Given the description of an element on the screen output the (x, y) to click on. 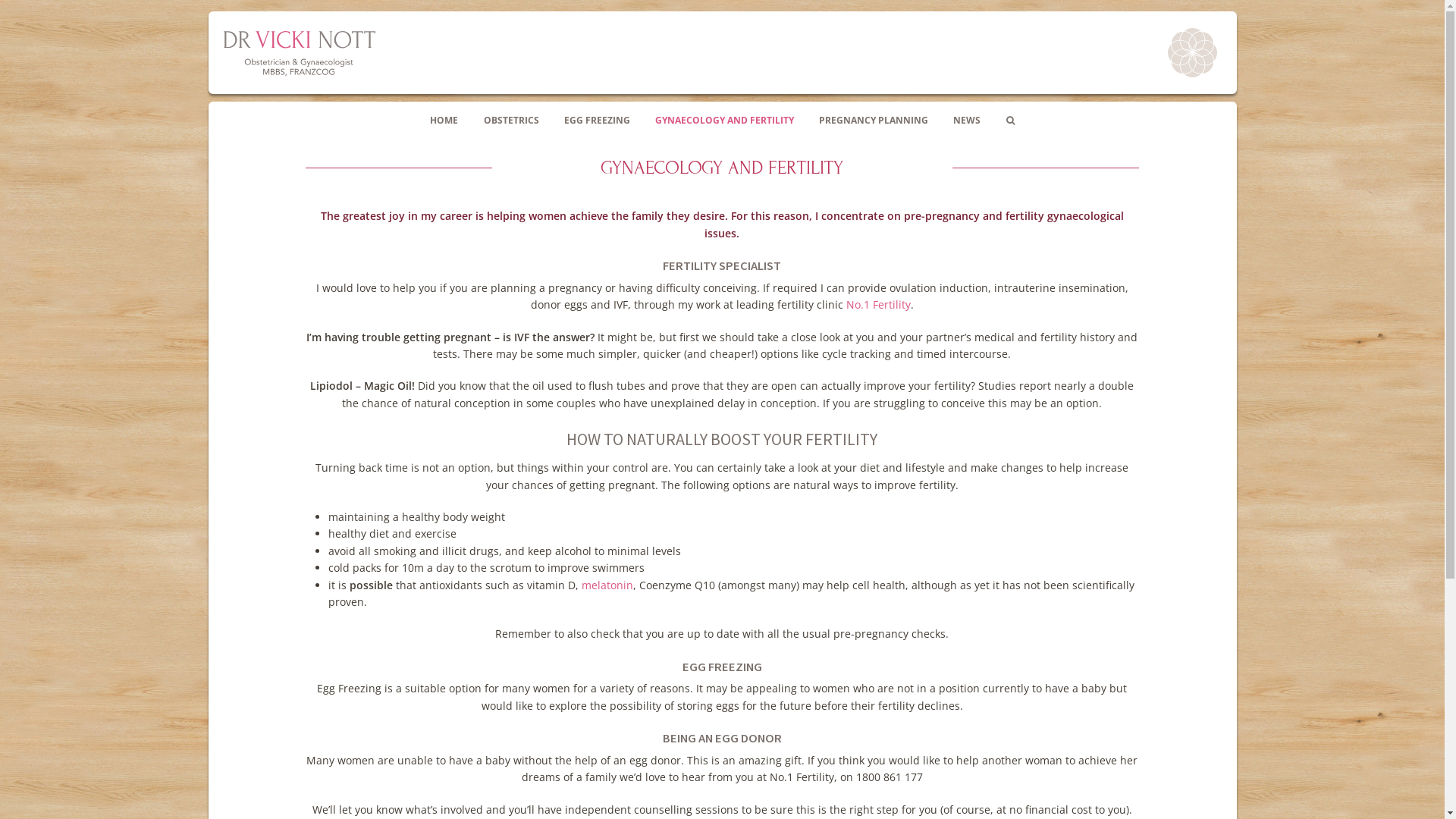
GYNAECOLOGY AND FERTILITY Element type: text (723, 120)
OBSTETRICS Element type: text (510, 120)
melatonin Element type: text (606, 584)
NEWS Element type: text (966, 120)
EGG FREEZING Element type: text (596, 120)
HOME Element type: text (444, 120)
Dr Vicki Nott Element type: hover (298, 53)
No.1 Fertility Element type: text (878, 304)
PREGNANCY PLANNING Element type: text (873, 120)
